Given the description of an element on the screen output the (x, y) to click on. 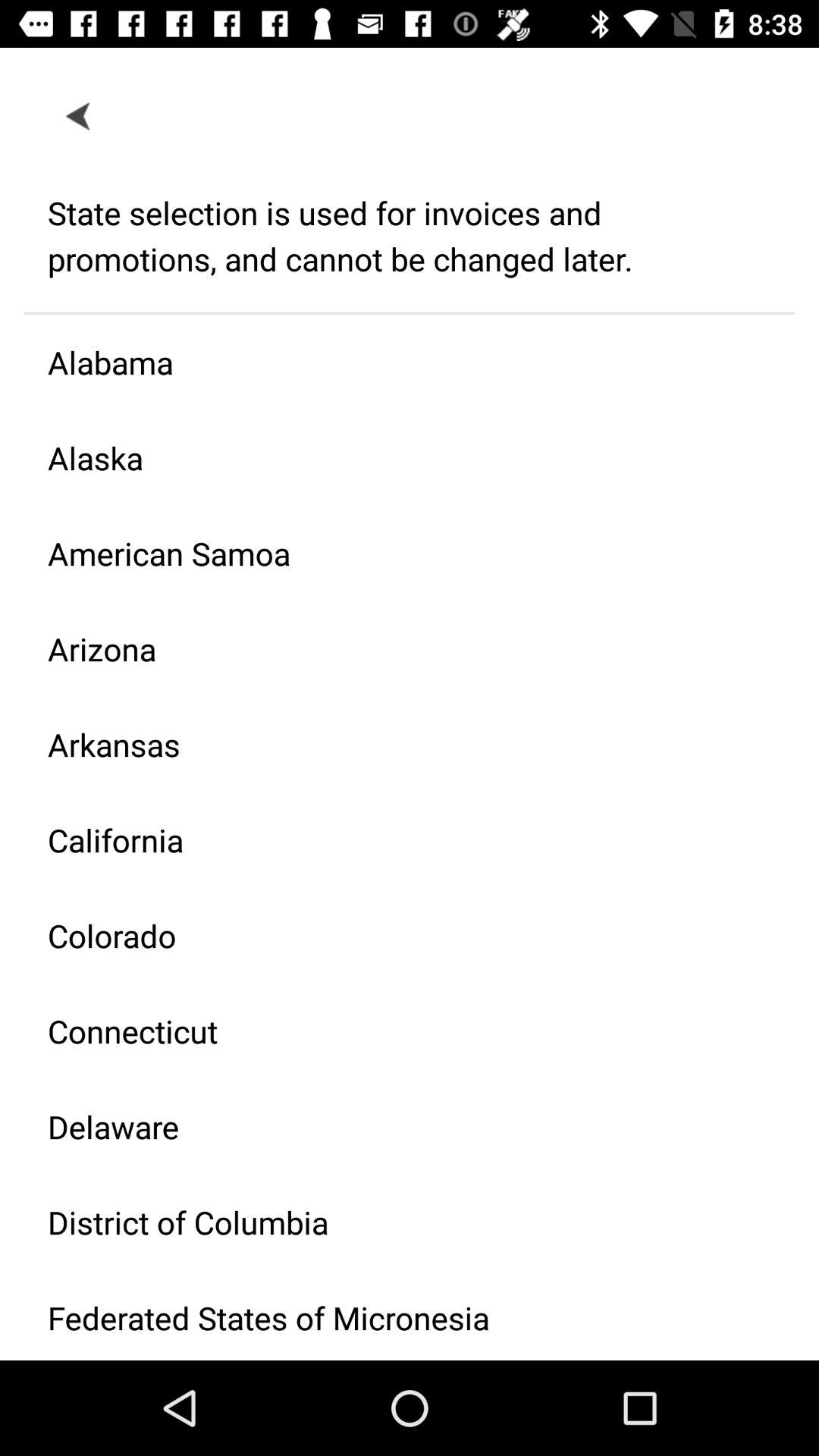
swipe to colorado icon (397, 935)
